Given the description of an element on the screen output the (x, y) to click on. 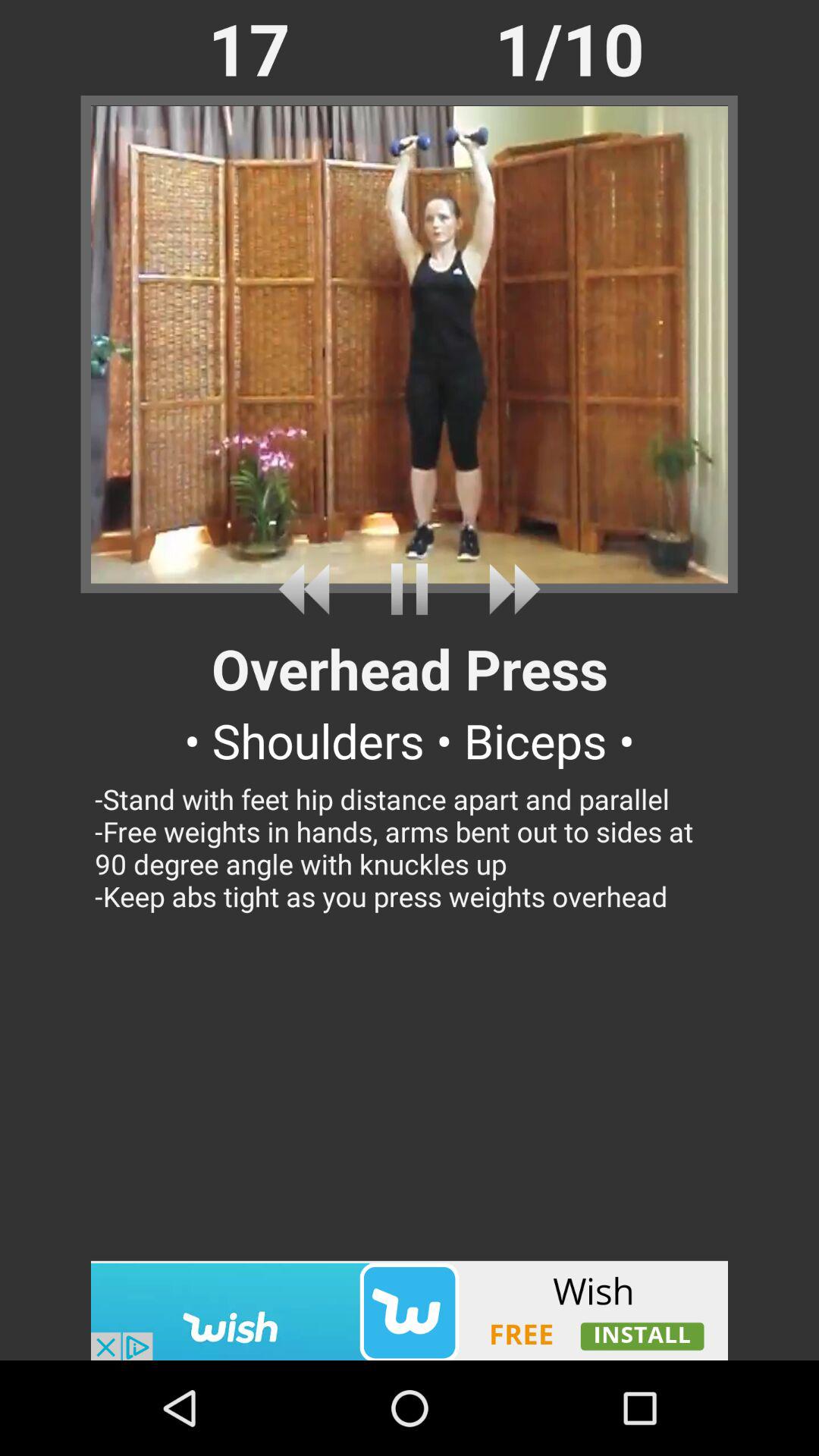
rewind the video (309, 589)
